Given the description of an element on the screen output the (x, y) to click on. 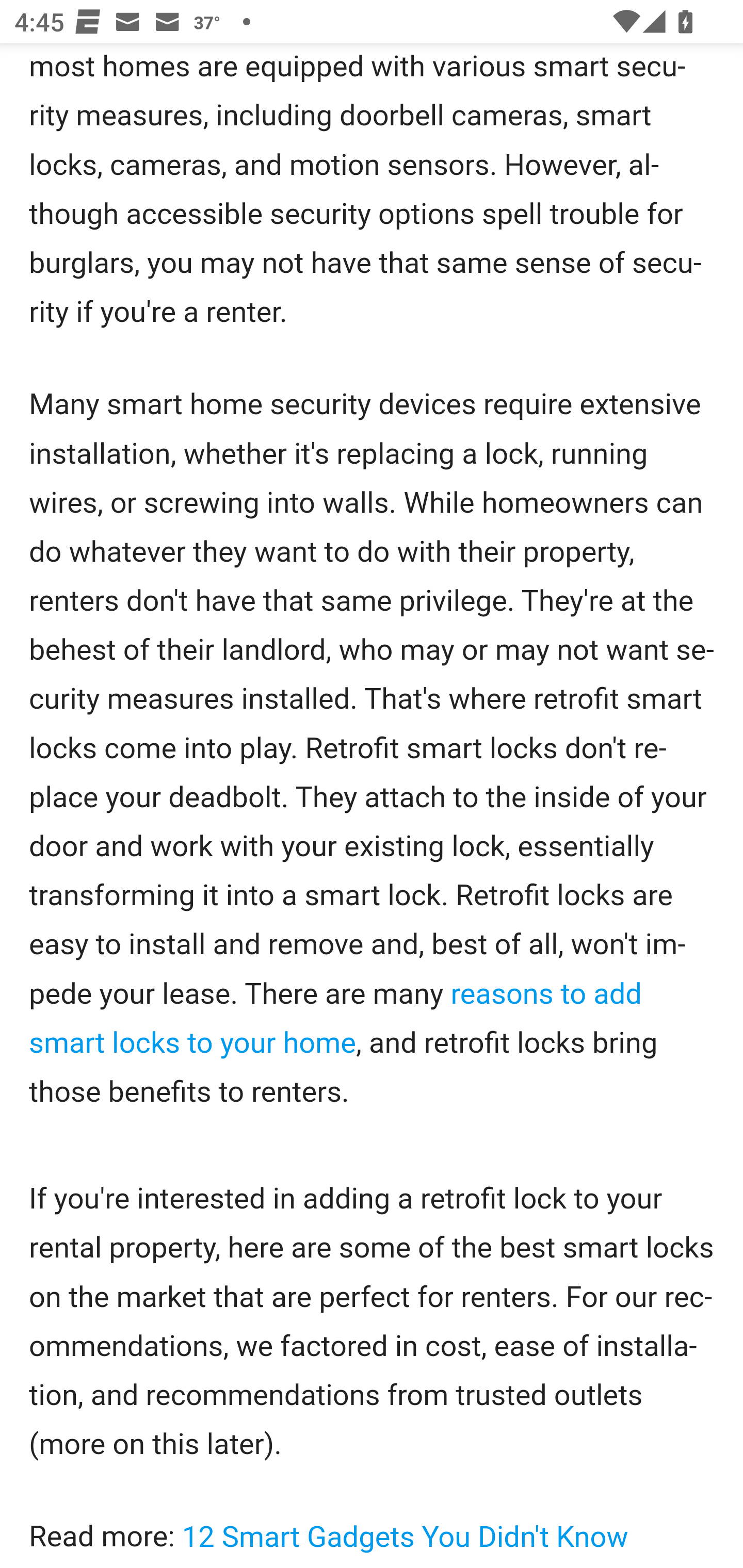
reasons to add smart locks to your home (335, 1018)
12 Smart Gadgets You Didn't Know Existed (329, 1540)
